Given the description of an element on the screen output the (x, y) to click on. 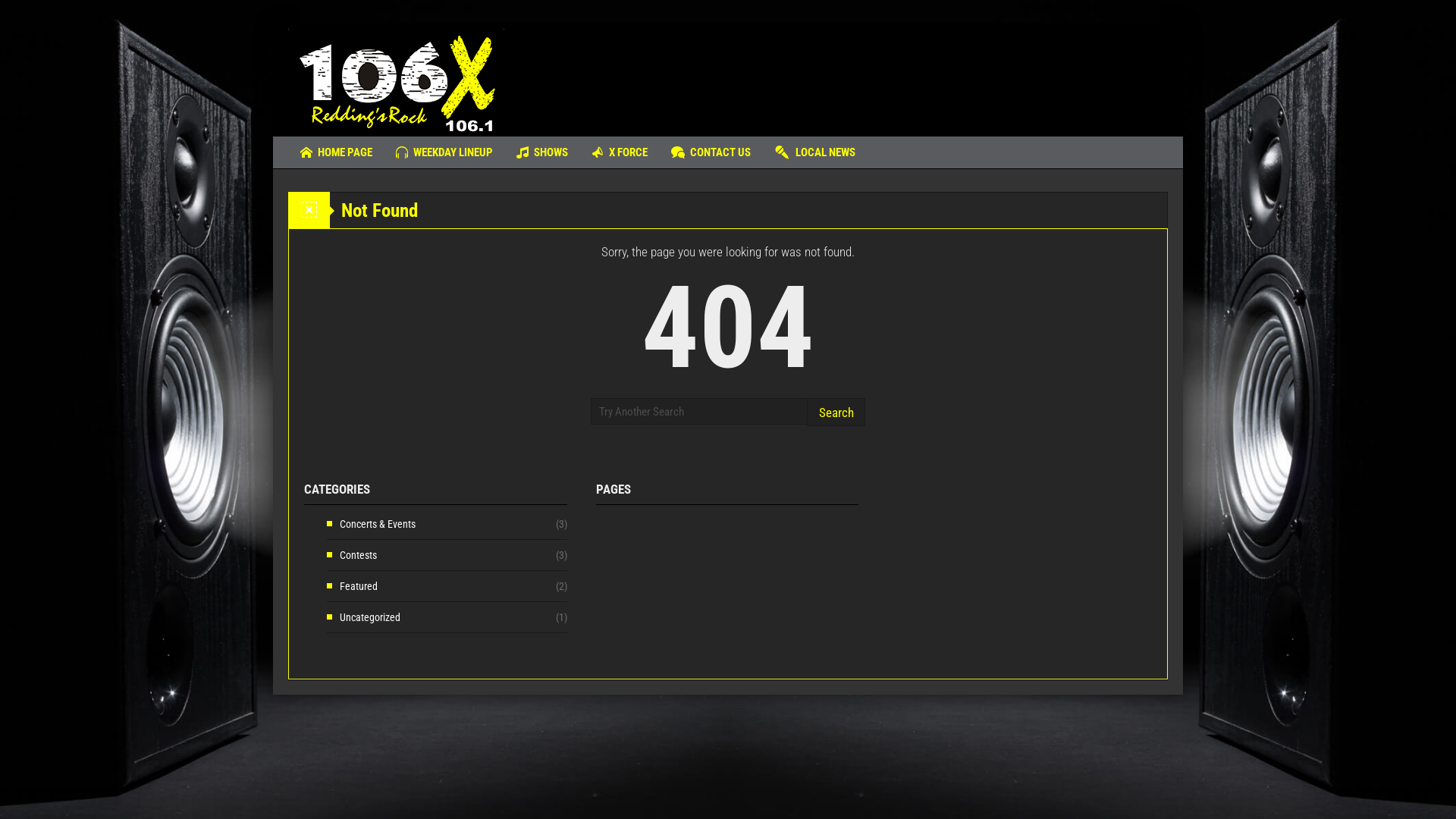
Search Element type: text (835, 412)
Advertisement Element type: hover (891, 71)
SHOWS Element type: text (542, 152)
Concerts & Events Element type: text (370, 523)
X FORCE Element type: text (619, 152)
CONTACT US Element type: text (710, 152)
WEEKDAY LINEUP Element type: text (444, 152)
Uncategorized Element type: text (363, 616)
Search for: Element type: hover (698, 411)
HOME PAGE Element type: text (335, 152)
LOCAL NEWS Element type: text (814, 152)
Redding's Rock 106X Element type: hover (396, 79)
Contests Element type: text (351, 554)
Featured Element type: text (351, 585)
